Given the description of an element on the screen output the (x, y) to click on. 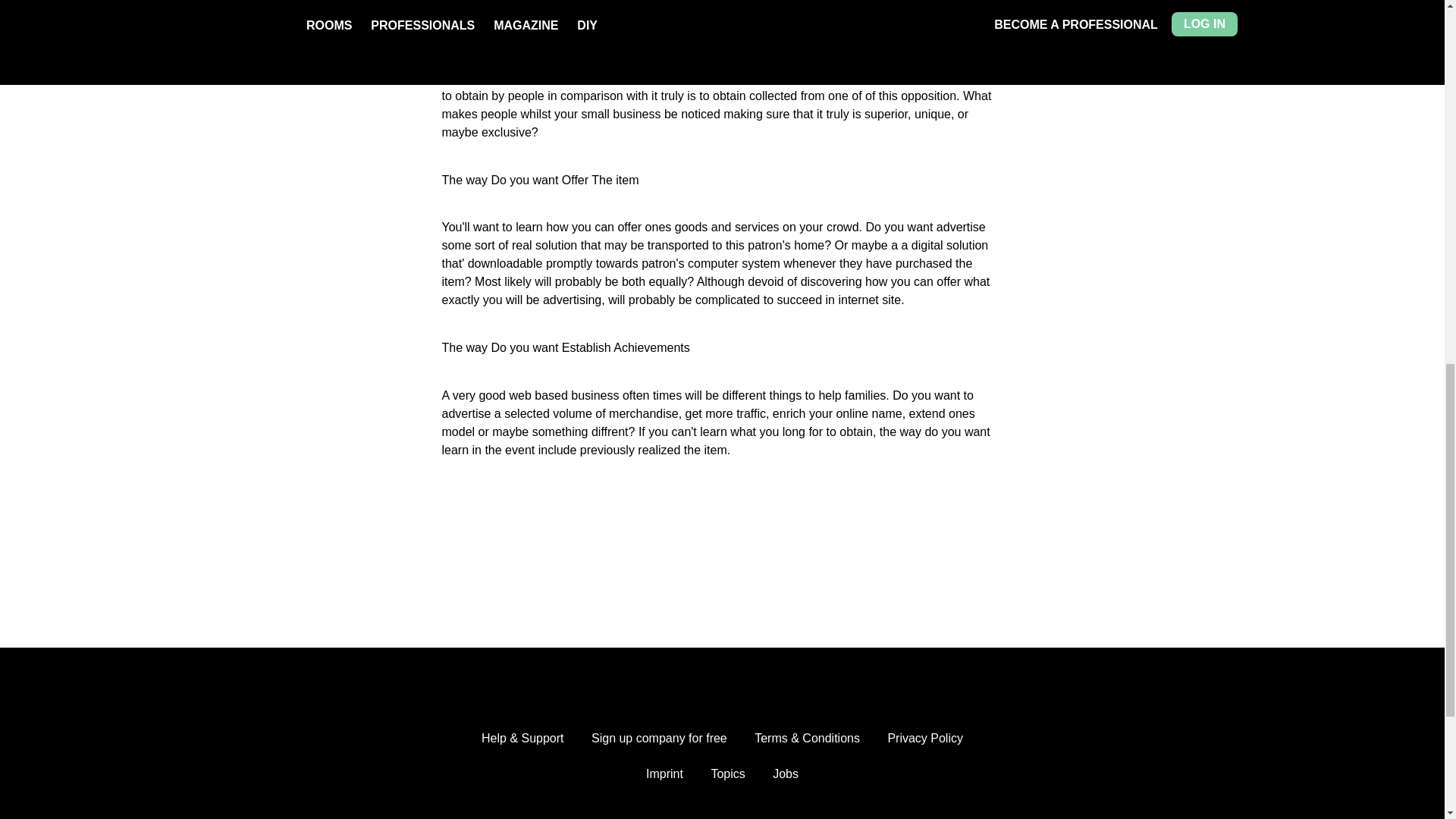
Sign up company for free (658, 738)
Jobs (785, 773)
Privacy Policy (924, 738)
Imprint (664, 773)
Topics (727, 773)
